Given the description of an element on the screen output the (x, y) to click on. 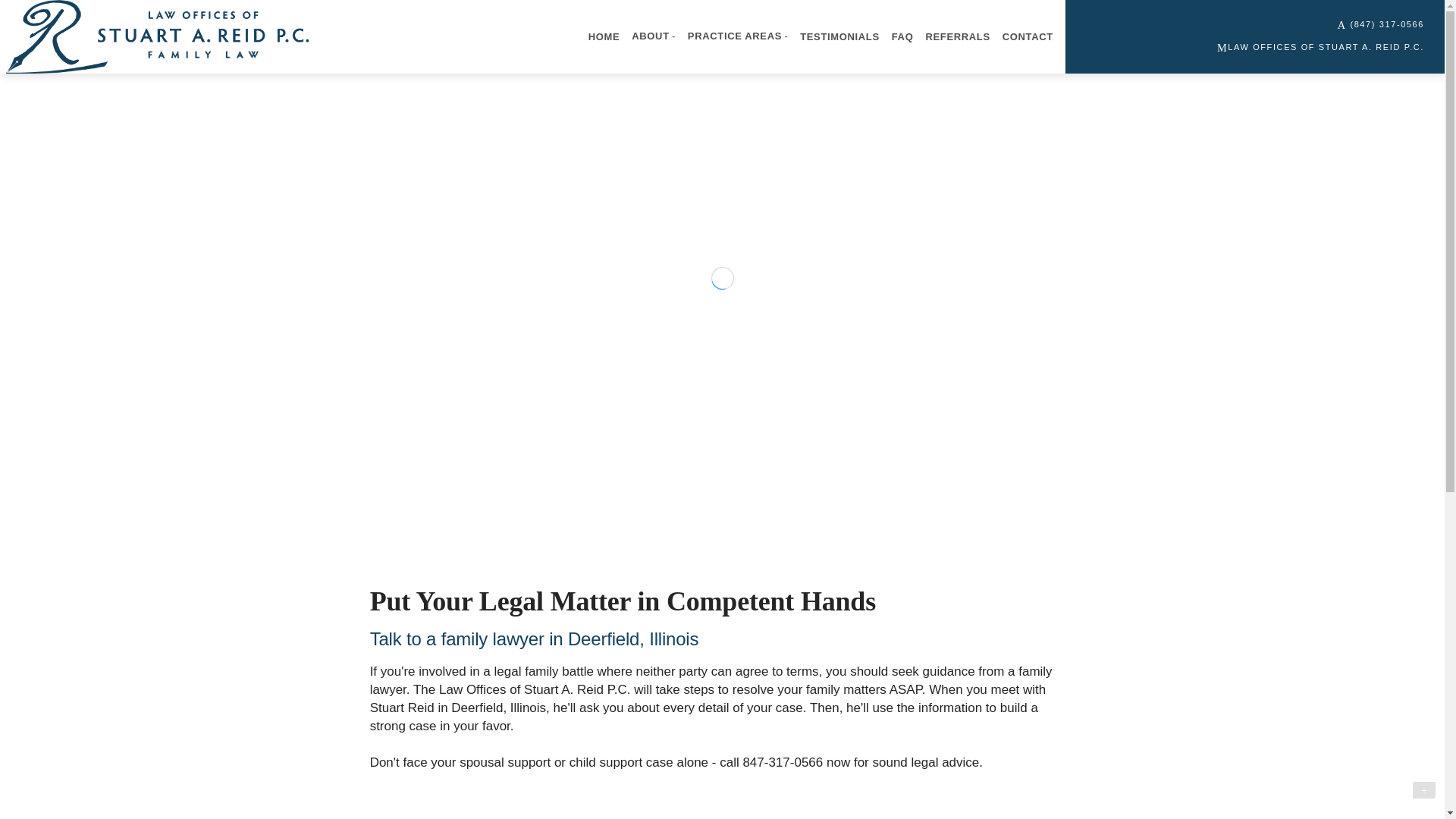
FAQ (902, 37)
PRACTICE AREAS (737, 36)
CONTACT (1027, 37)
Law Office of Stuart A. Reid P.C. (156, 36)
TESTIMONIALS (839, 37)
REFERRALS (956, 37)
HOME (604, 37)
ABOUT (653, 36)
LAW OFFICES OF STUART A. REID P.C. (1320, 47)
